Given the description of an element on the screen output the (x, y) to click on. 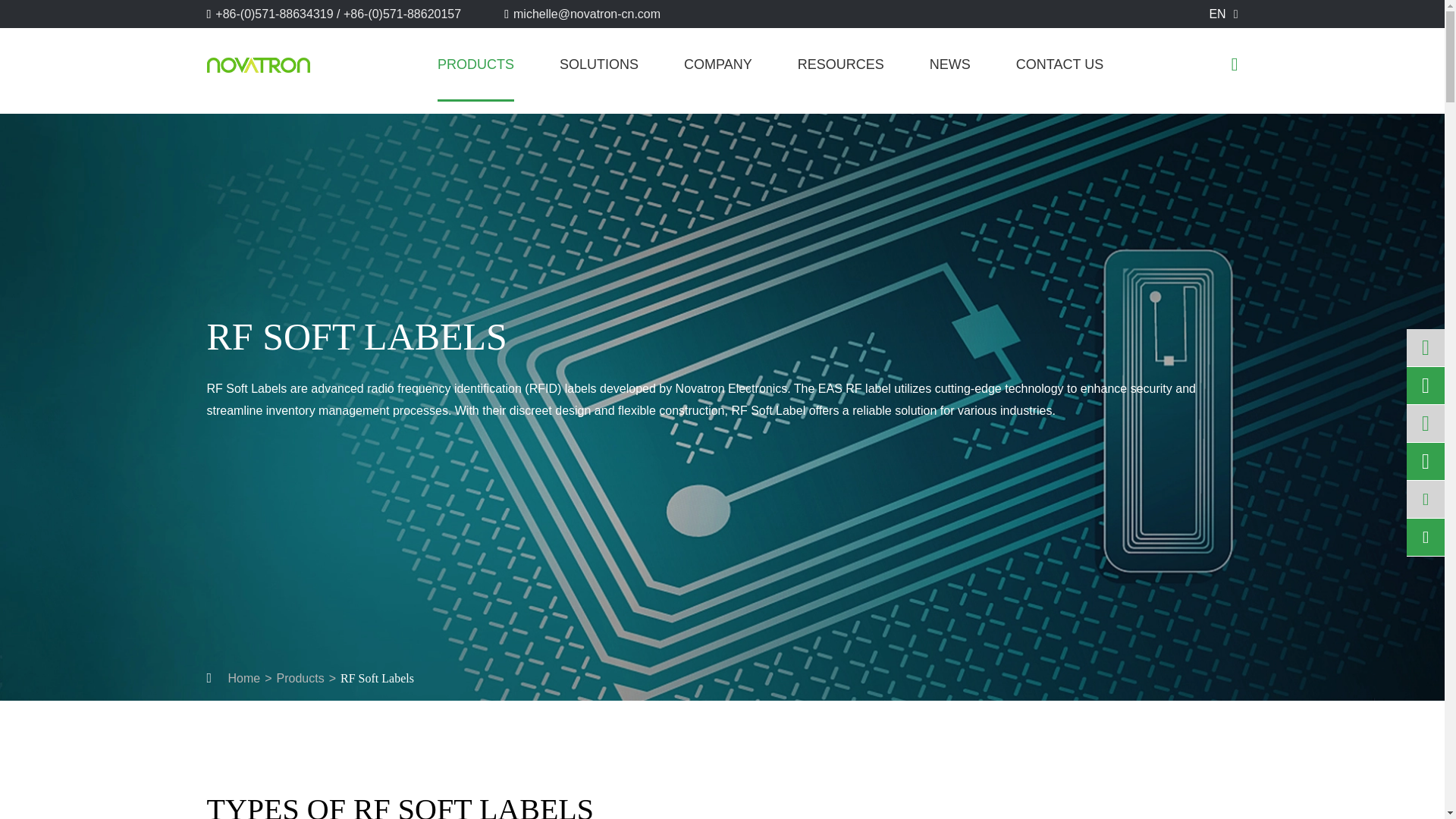
COMPANY (718, 64)
RF Soft Labels (376, 677)
Products (300, 677)
PRODUCTS (475, 64)
SOLUTIONS (599, 64)
